Given the description of an element on the screen output the (x, y) to click on. 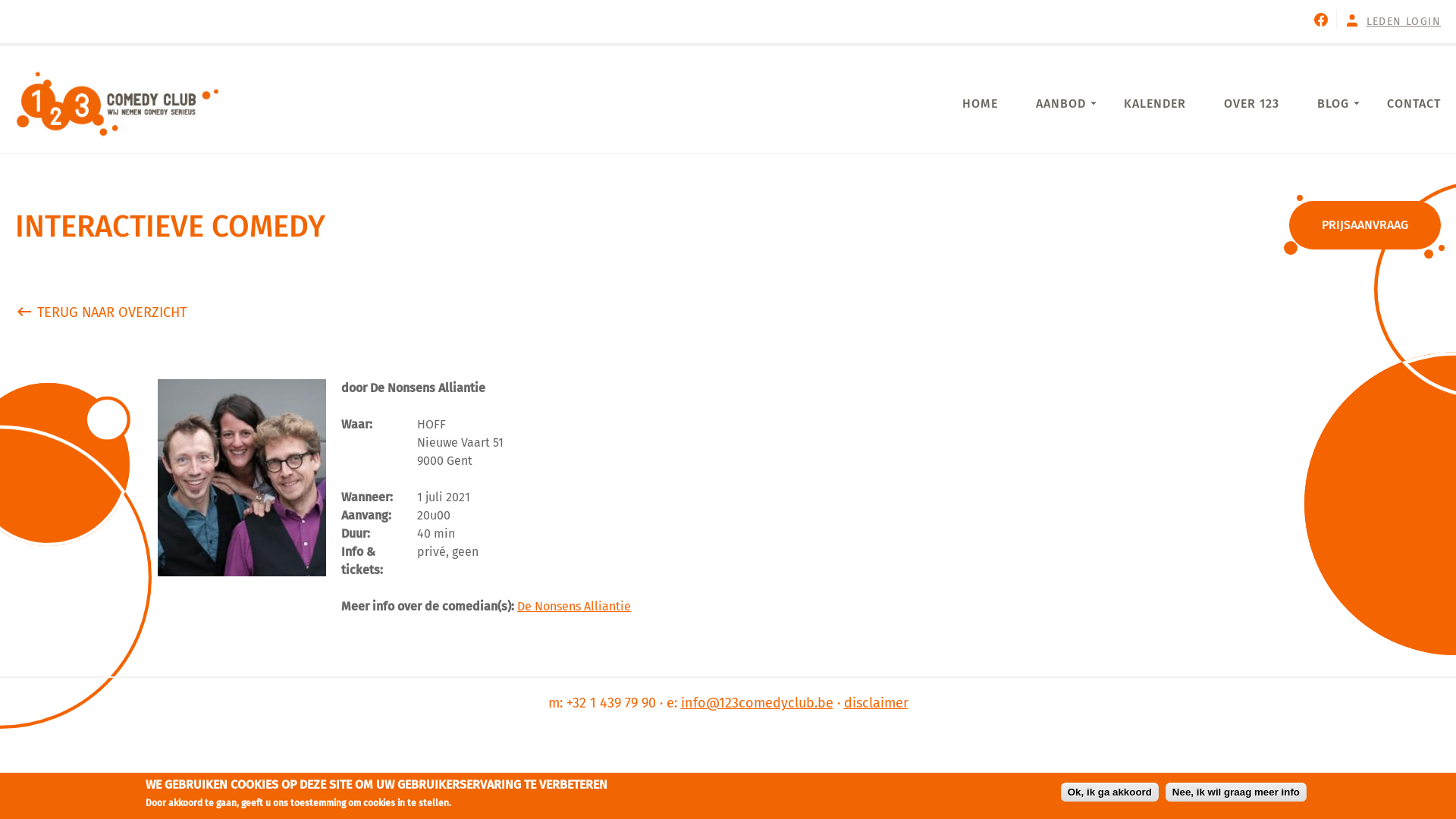
LEDEN LOGIN Element type: text (1403, 21)
HOME Element type: text (979, 102)
De Nonsens Alliantie Element type: text (573, 606)
BLOG Element type: text (1333, 102)
Overslaan en naar de inhoud gaan Element type: text (94, 0)
CONTACT Element type: text (1413, 102)
 PRIJSAANVRAAG  Element type: text (1364, 224)
disclaimer Element type: text (875, 702)
KALENDER Element type: text (1154, 102)
keyboard_backspace
TERUG NAAR OVERZICHT Element type: text (100, 312)
AANBOD Element type: text (1060, 102)
Ok, ik ga akkoord Element type: text (1109, 791)
info@123comedyclub.be Element type: text (756, 702)
Nee, ik wil graag meer info Element type: text (1235, 791)
OVER 123 Element type: text (1251, 102)
